Given the description of an element on the screen output the (x, y) to click on. 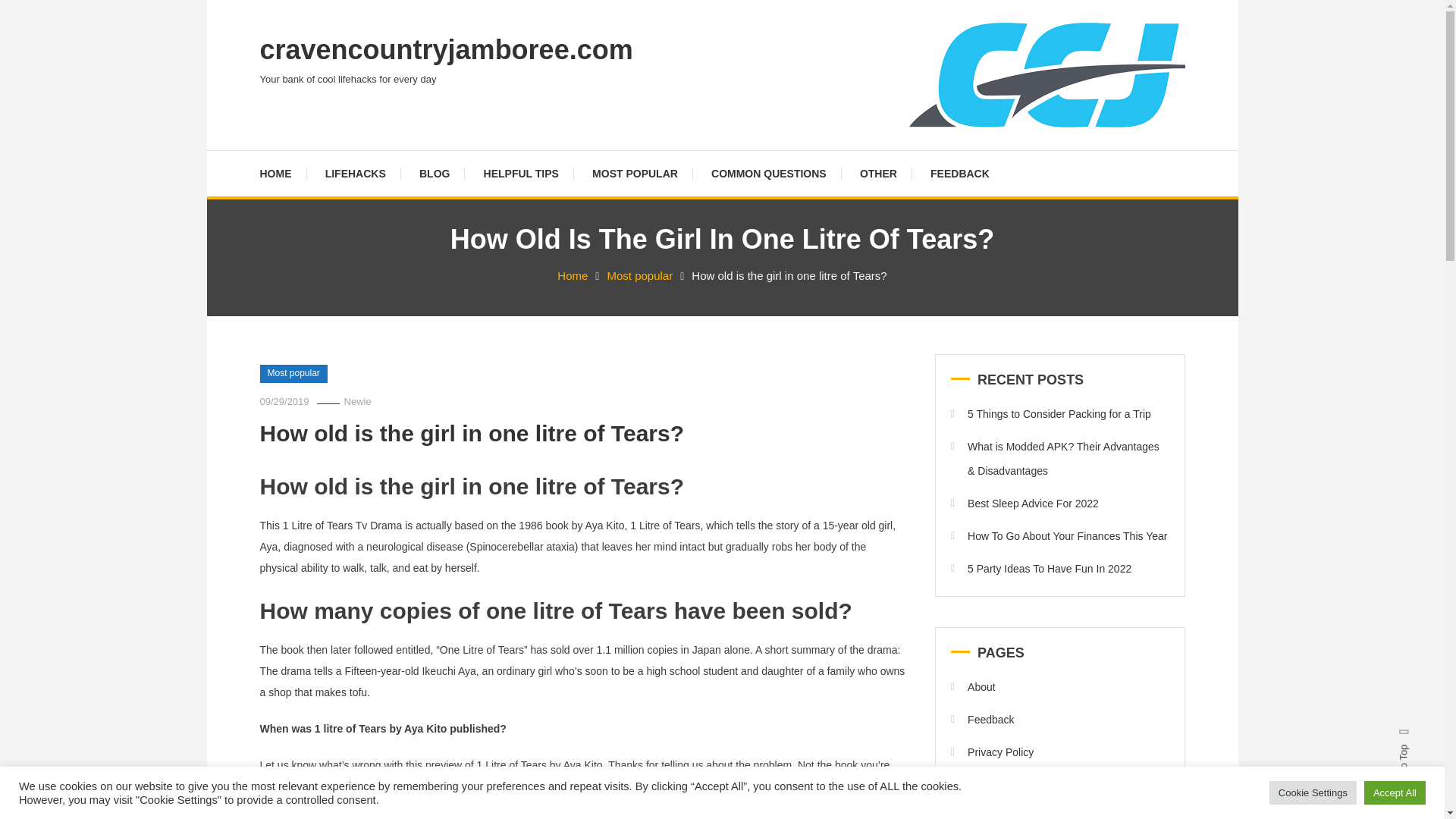
Facebook (5, 81)
BLOG (434, 173)
LIFEHACKS (355, 173)
Reddit (5, 93)
HOME (282, 173)
COMMON QUESTIONS (768, 173)
Most popular (639, 275)
HELPFUL TIPS (520, 173)
Most popular (292, 373)
Twitter (5, 87)
